Given the description of an element on the screen output the (x, y) to click on. 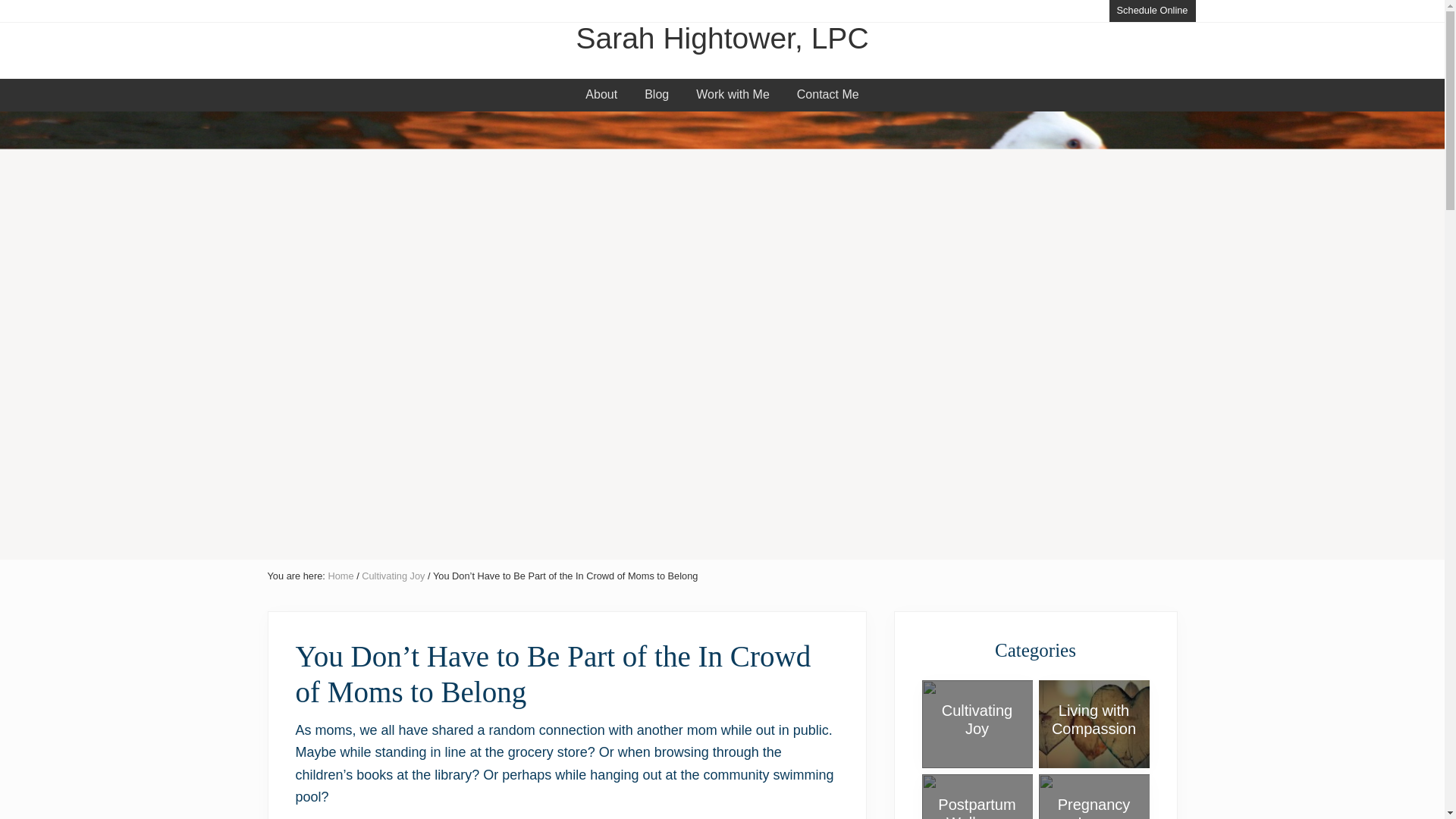
Postpartum Wellness (975, 807)
Pregnancy Loss (1094, 807)
Work with Me (732, 94)
Home (340, 575)
Cultivating Joy (976, 719)
Schedule Online (1152, 11)
About (601, 94)
Contact Me (827, 94)
Cultivating Joy (393, 575)
